Given the description of an element on the screen output the (x, y) to click on. 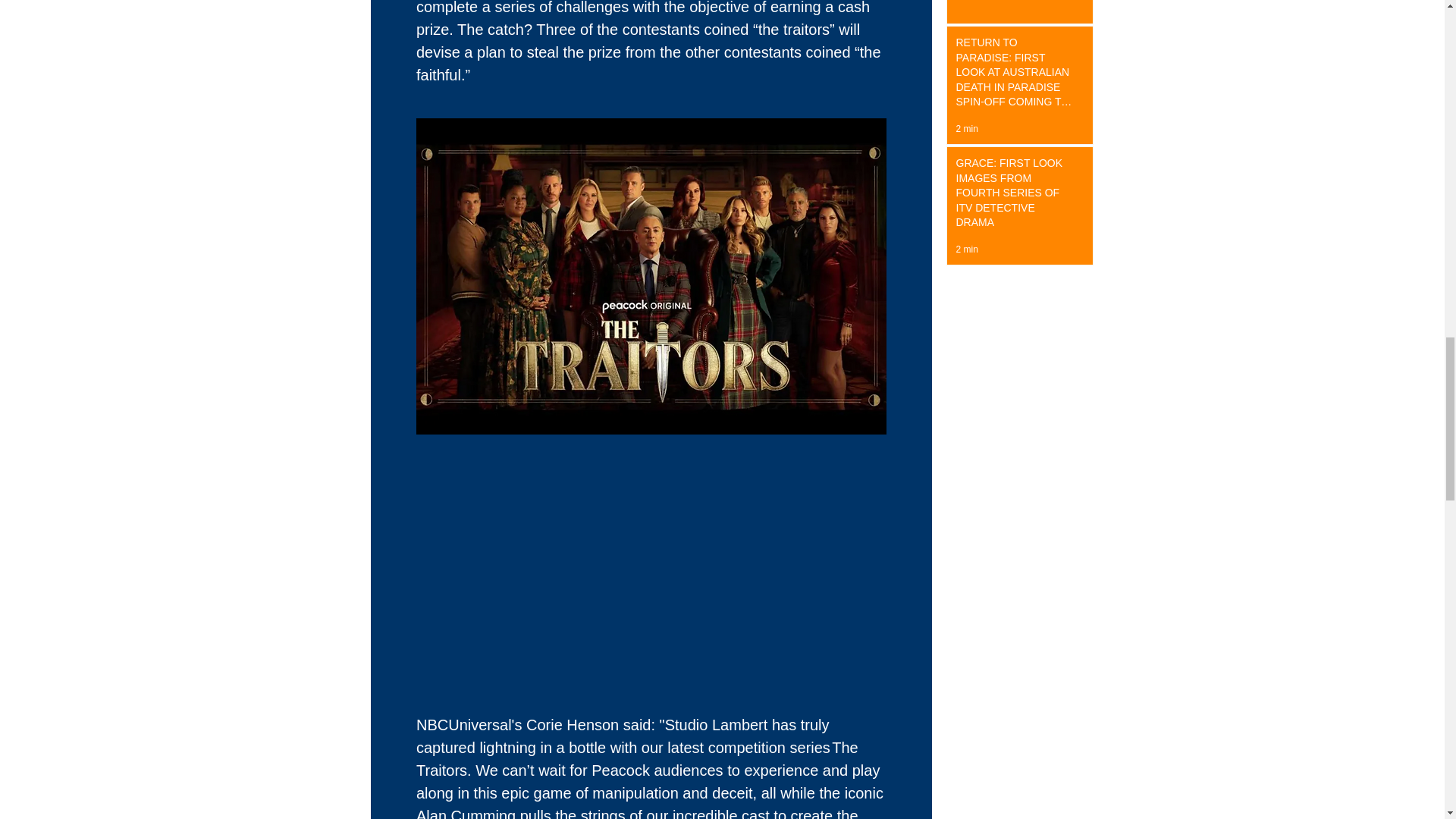
2 min (965, 128)
2 min (965, 249)
